Given the description of an element on the screen output the (x, y) to click on. 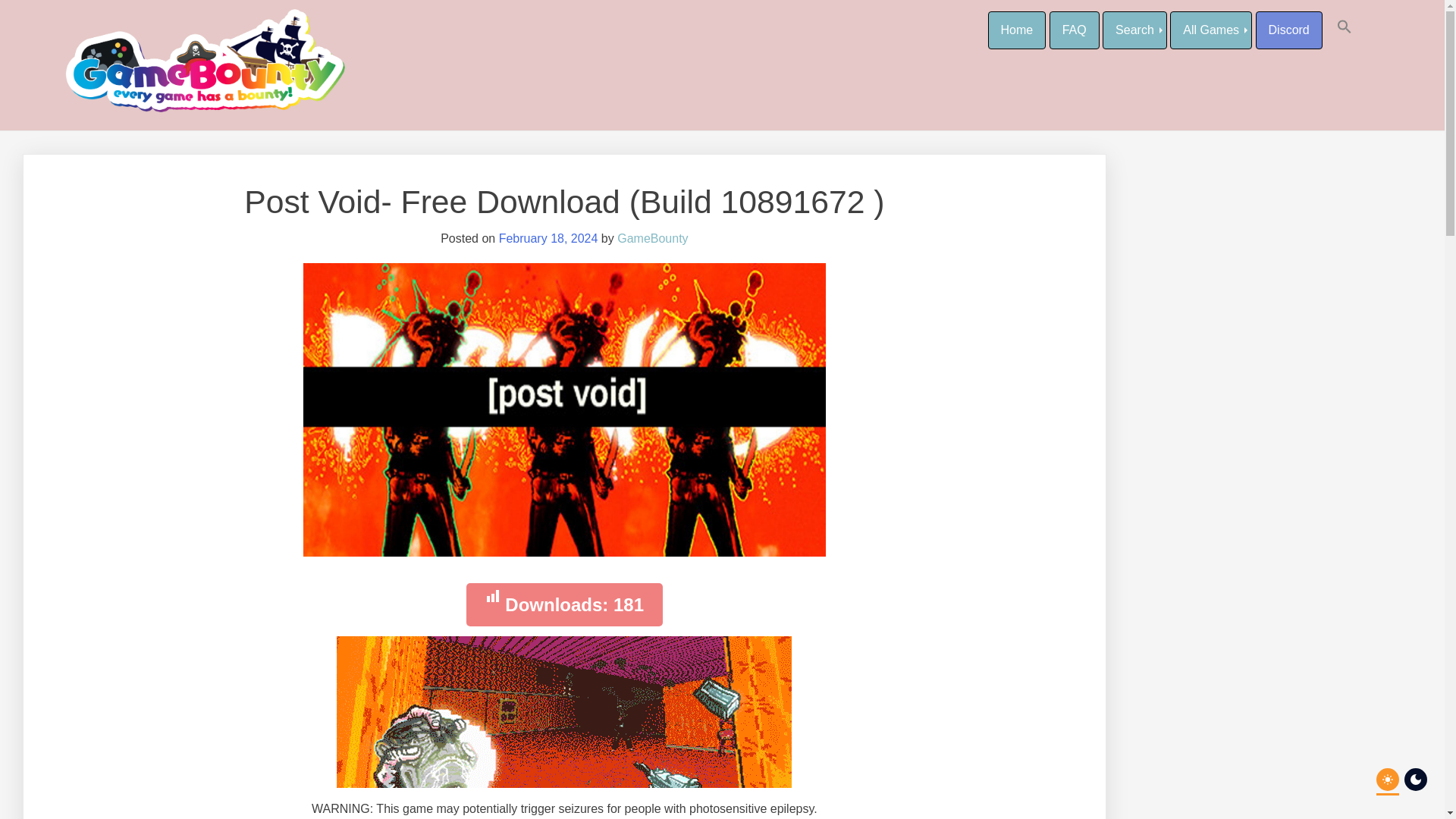
faqMenuLink (1074, 30)
discordMenuLink (1288, 30)
February 18, 2024 (548, 237)
allgMenuLink (1134, 30)
Game Bounty (134, 24)
Home (1016, 30)
GameBounty (652, 237)
allgMenuLink (1211, 30)
FAQ (1074, 30)
homeMenuLink (1016, 30)
